Given the description of an element on the screen output the (x, y) to click on. 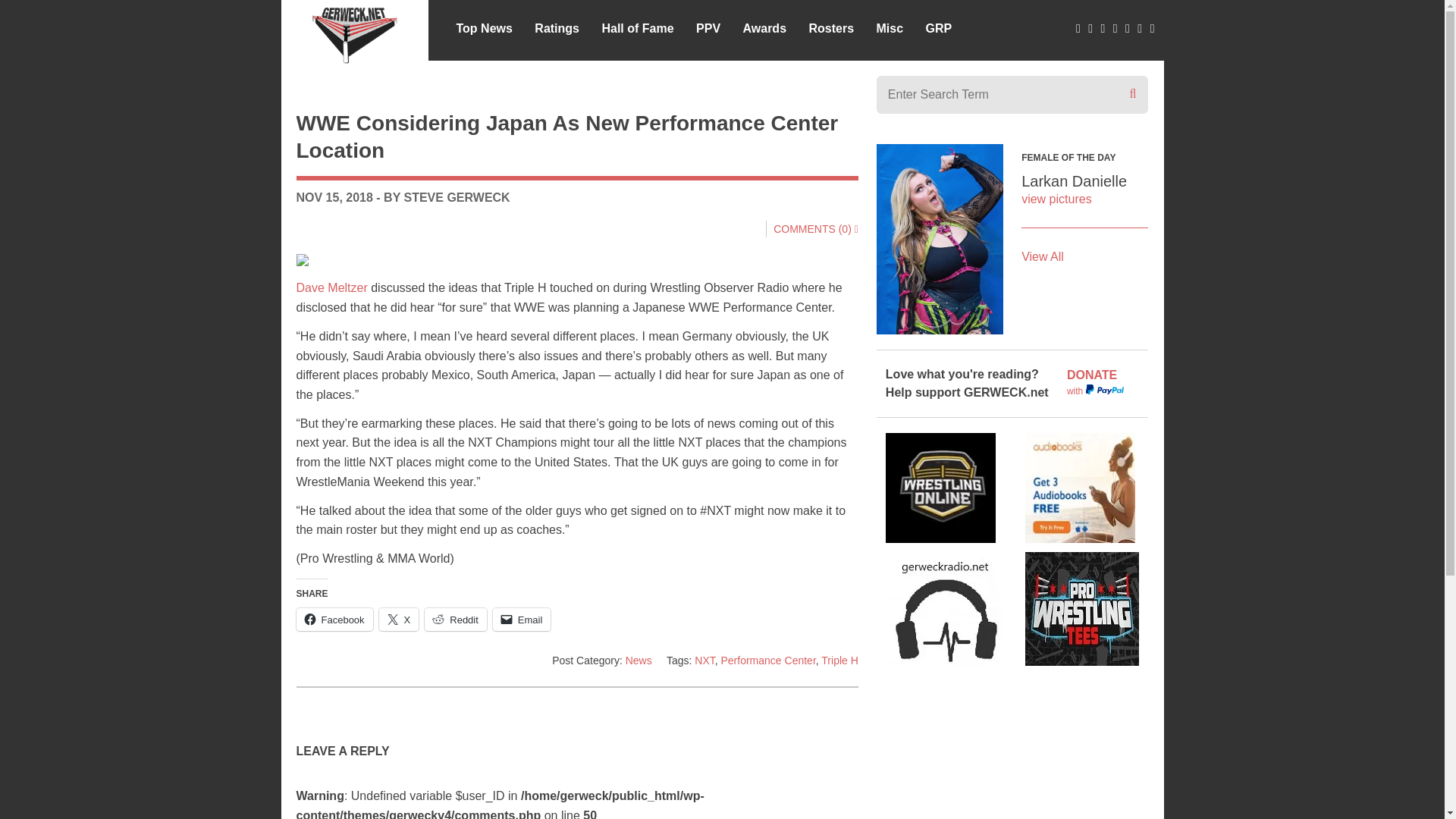
Ratings (556, 28)
Click to share on Facebook (333, 619)
Click to share on X (398, 619)
PPV (707, 28)
Click to share on Reddit (455, 619)
Top News (484, 28)
Click to email a link to a friend (522, 619)
Hall of Fame (636, 28)
Gerweck.net (355, 31)
